Given the description of an element on the screen output the (x, y) to click on. 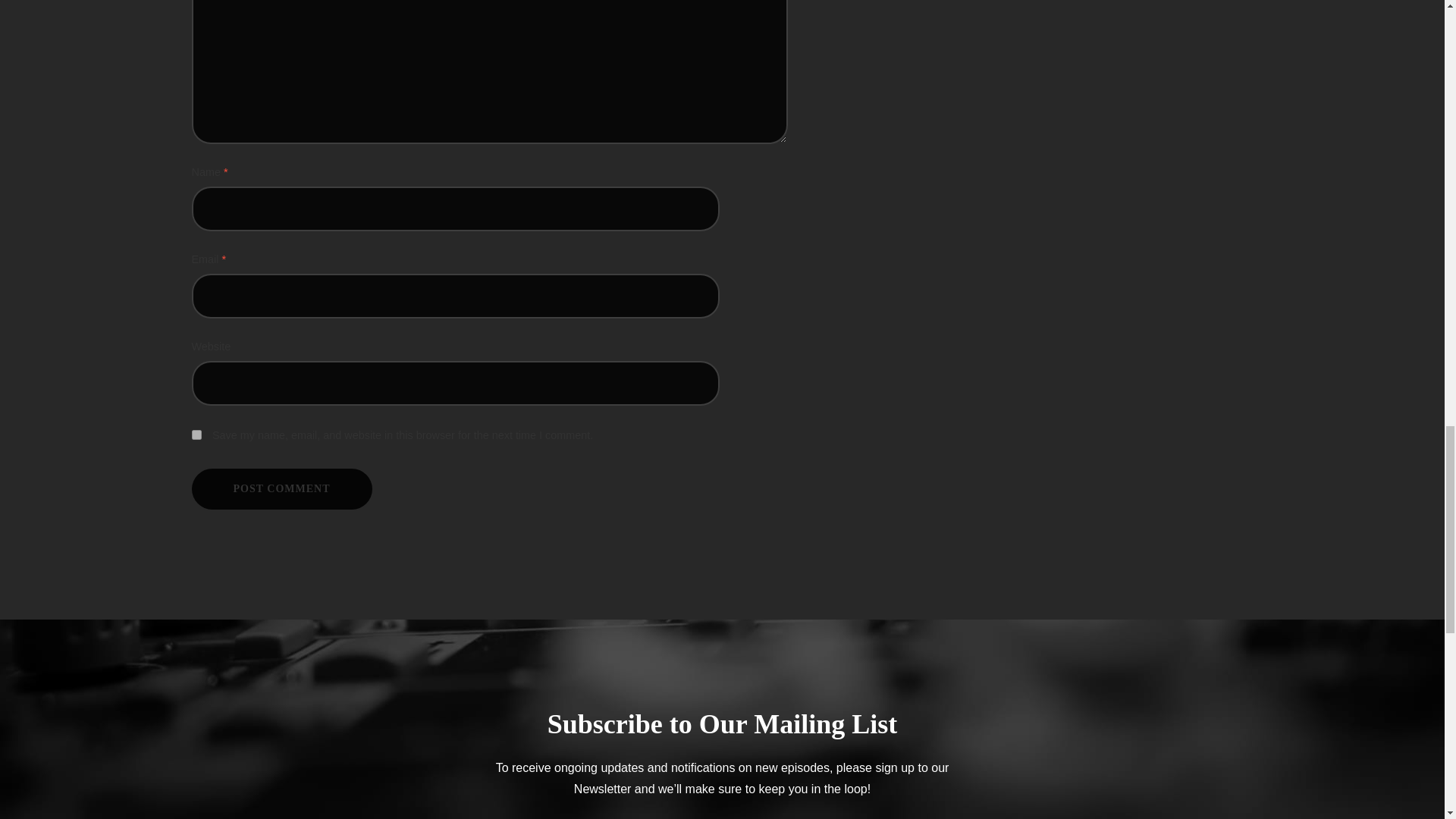
yes (195, 434)
Post Comment (280, 488)
Post Comment (280, 488)
